Given the description of an element on the screen output the (x, y) to click on. 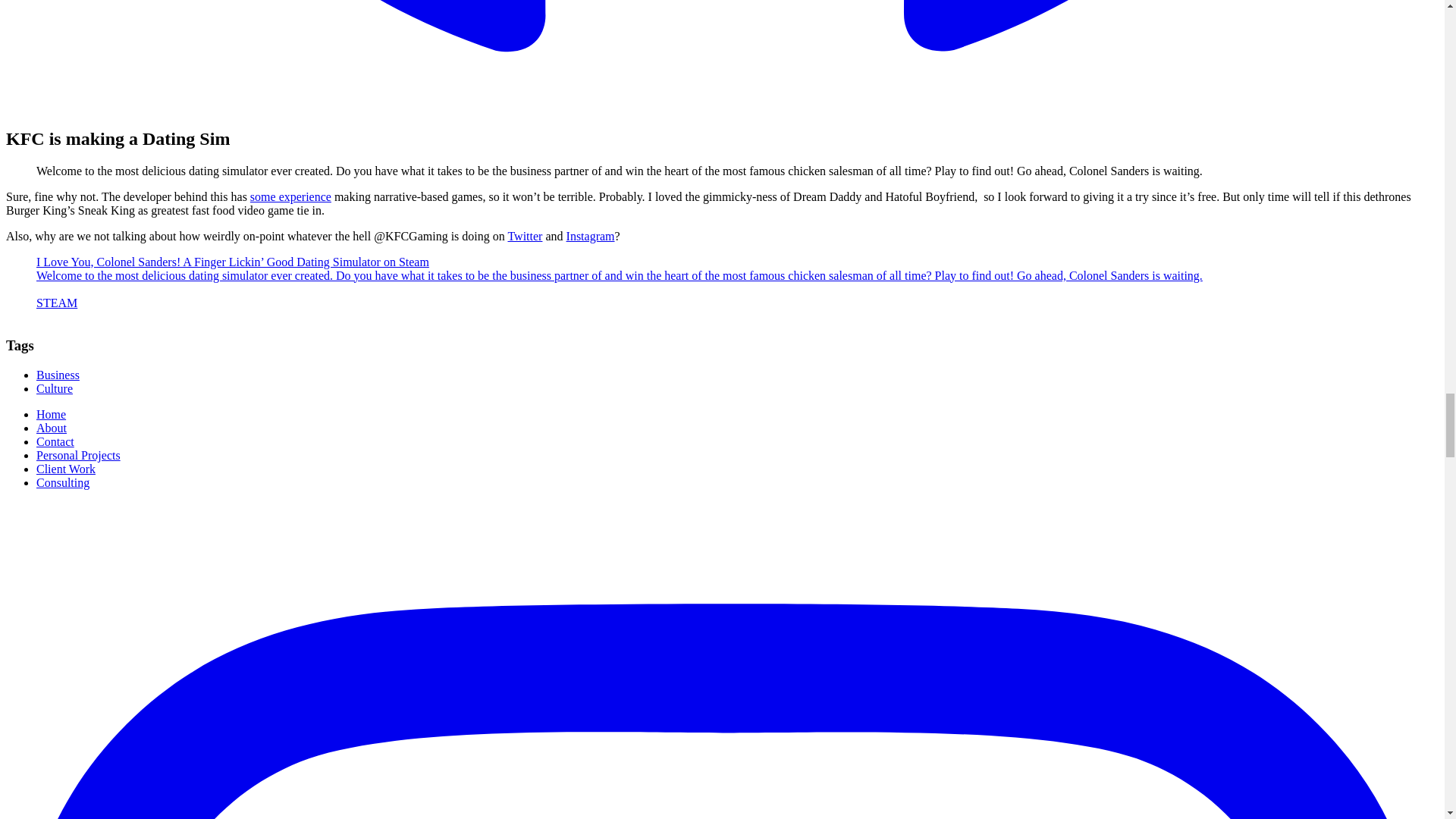
some experience (290, 196)
Twitter (523, 236)
Culture (54, 388)
About (51, 427)
Client Work (66, 468)
Contact (55, 440)
Business (58, 374)
Personal Projects (78, 454)
Instagram (590, 236)
Home (50, 413)
